Given the description of an element on the screen output the (x, y) to click on. 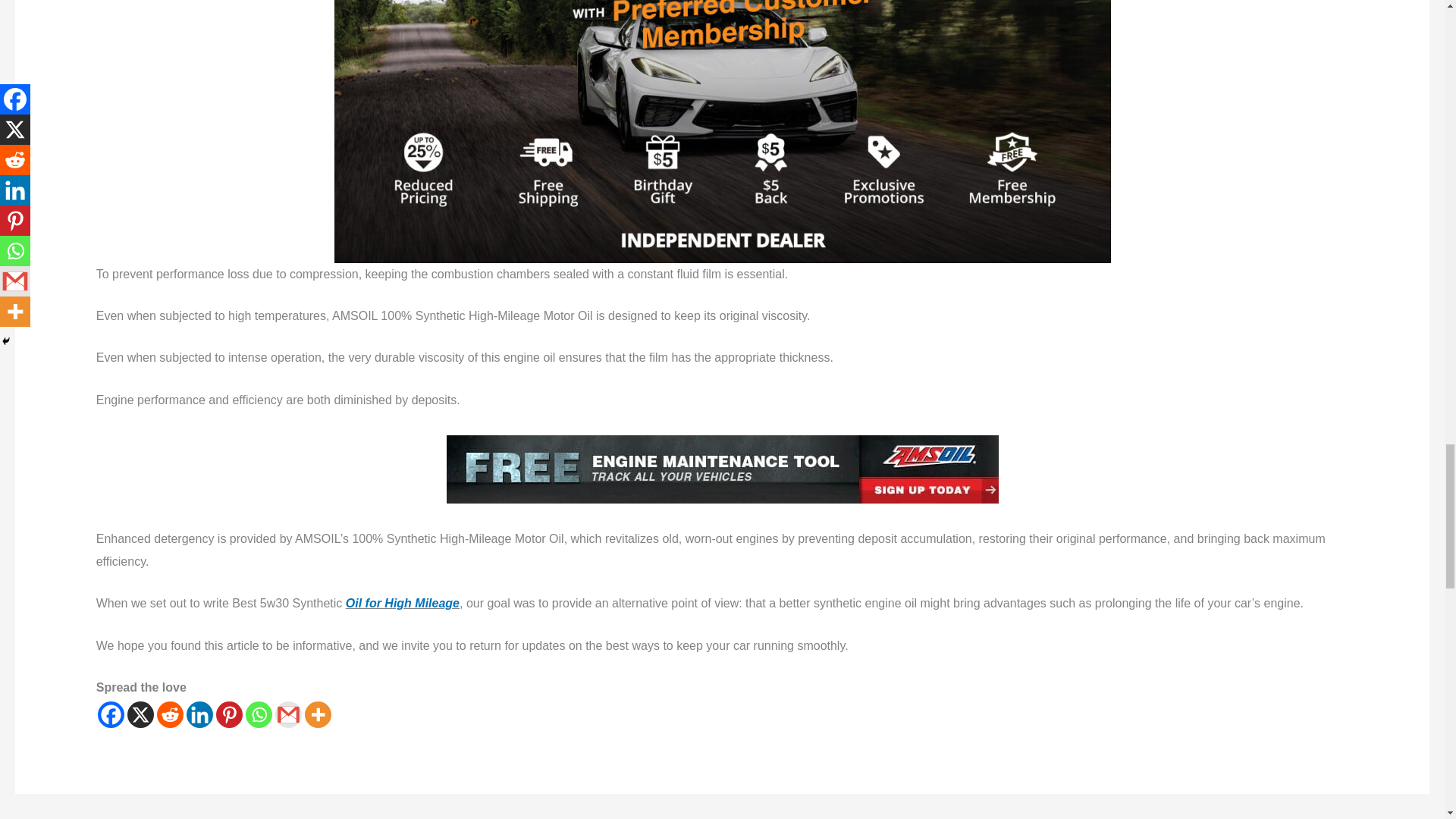
Facebook (110, 714)
More (317, 714)
Google Gmail (288, 714)
Oil for High Mileage (403, 603)
Whatsapp (259, 714)
Reddit (170, 714)
X (141, 714)
Linkedin (199, 714)
Pinterest (229, 714)
